Given the description of an element on the screen output the (x, y) to click on. 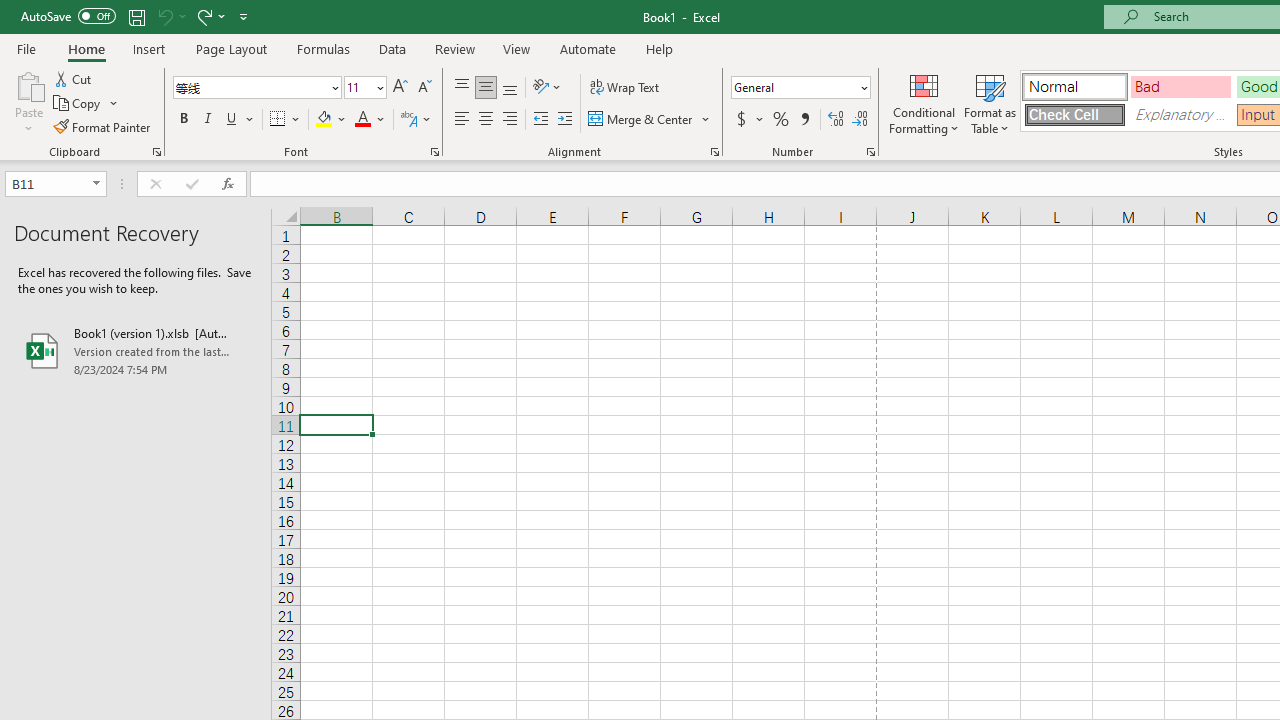
Show Phonetic Field (408, 119)
Bold (183, 119)
Font (250, 87)
Underline (239, 119)
Fill Color (331, 119)
Bottom Align (509, 87)
Office Clipboard... (156, 151)
Format Cell Font (434, 151)
Merge & Center (649, 119)
Decrease Indent (540, 119)
